Given the description of an element on the screen output the (x, y) to click on. 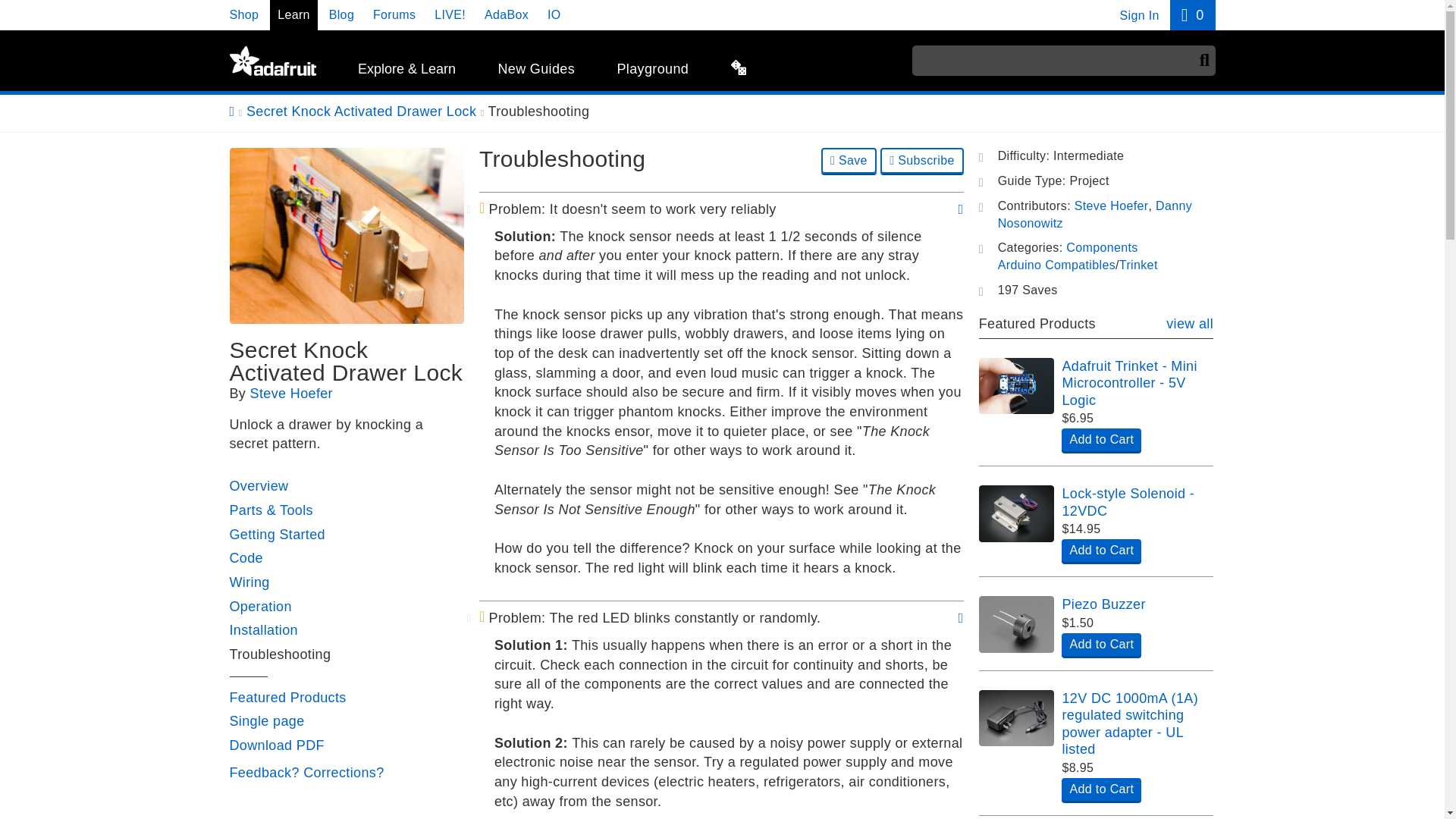
Adafruit Learning System (271, 60)
Forums (393, 14)
Shop (243, 14)
AdaBox (506, 14)
Blog (341, 14)
Sign In (1138, 15)
IO (553, 14)
Feedback? Corrections? (306, 772)
Learn (294, 14)
LIVE! (449, 14)
0 (1192, 14)
